Given the description of an element on the screen output the (x, y) to click on. 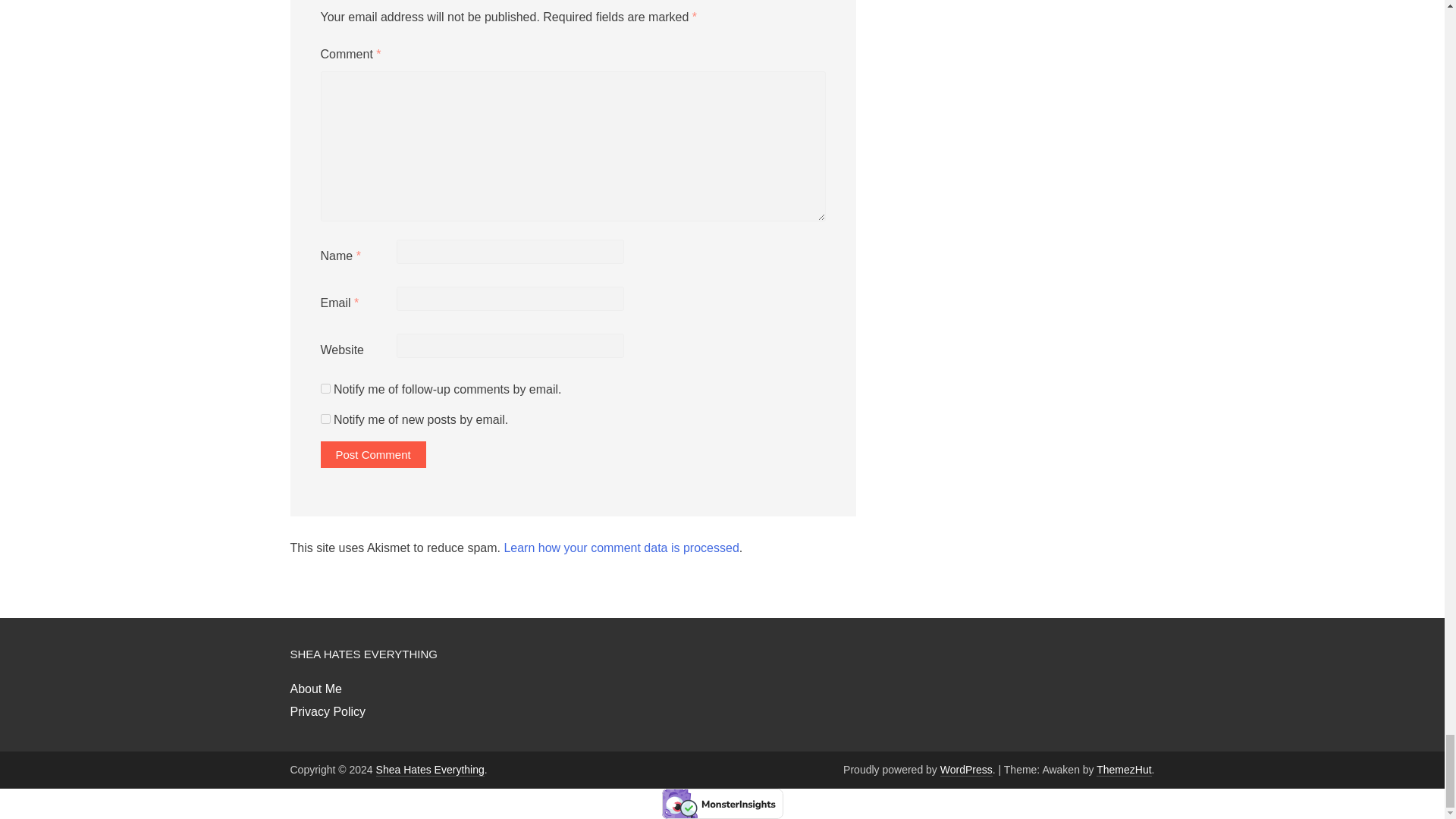
subscribe (325, 388)
subscribe (325, 419)
Post Comment (372, 454)
